Given the description of an element on the screen output the (x, y) to click on. 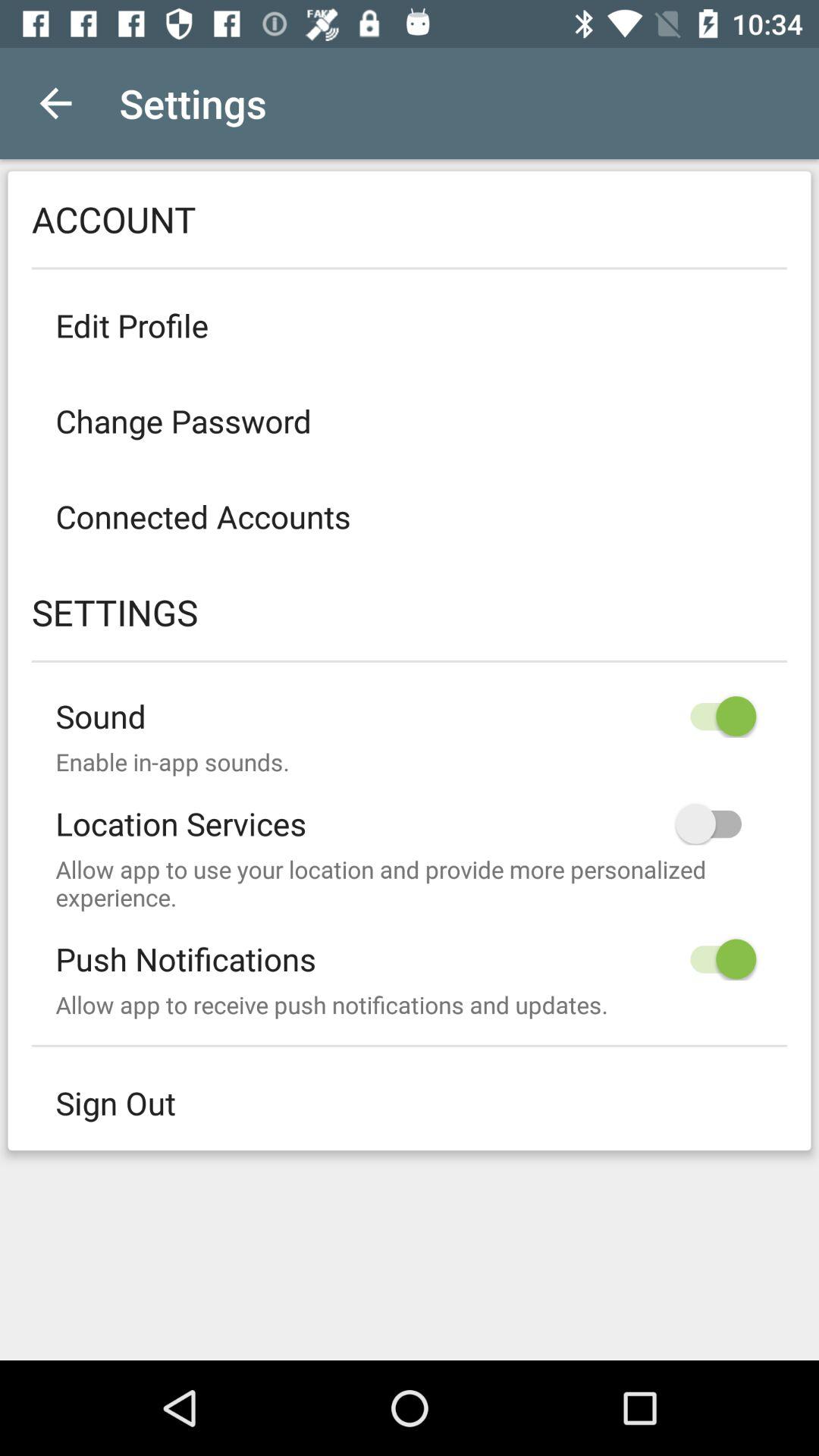
choose the connected accounts item (409, 516)
